Given the description of an element on the screen output the (x, y) to click on. 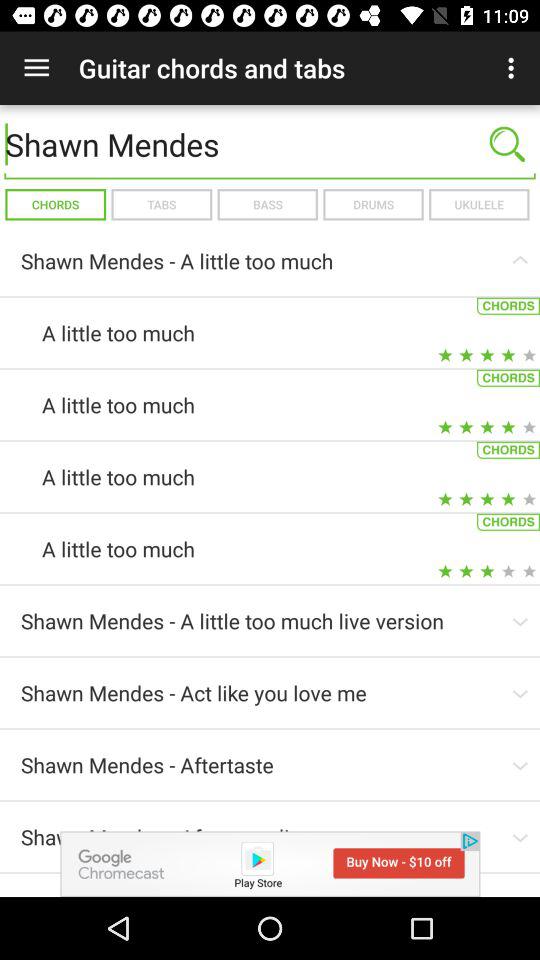
turn off icon next to drums icon (478, 204)
